Given the description of an element on the screen output the (x, y) to click on. 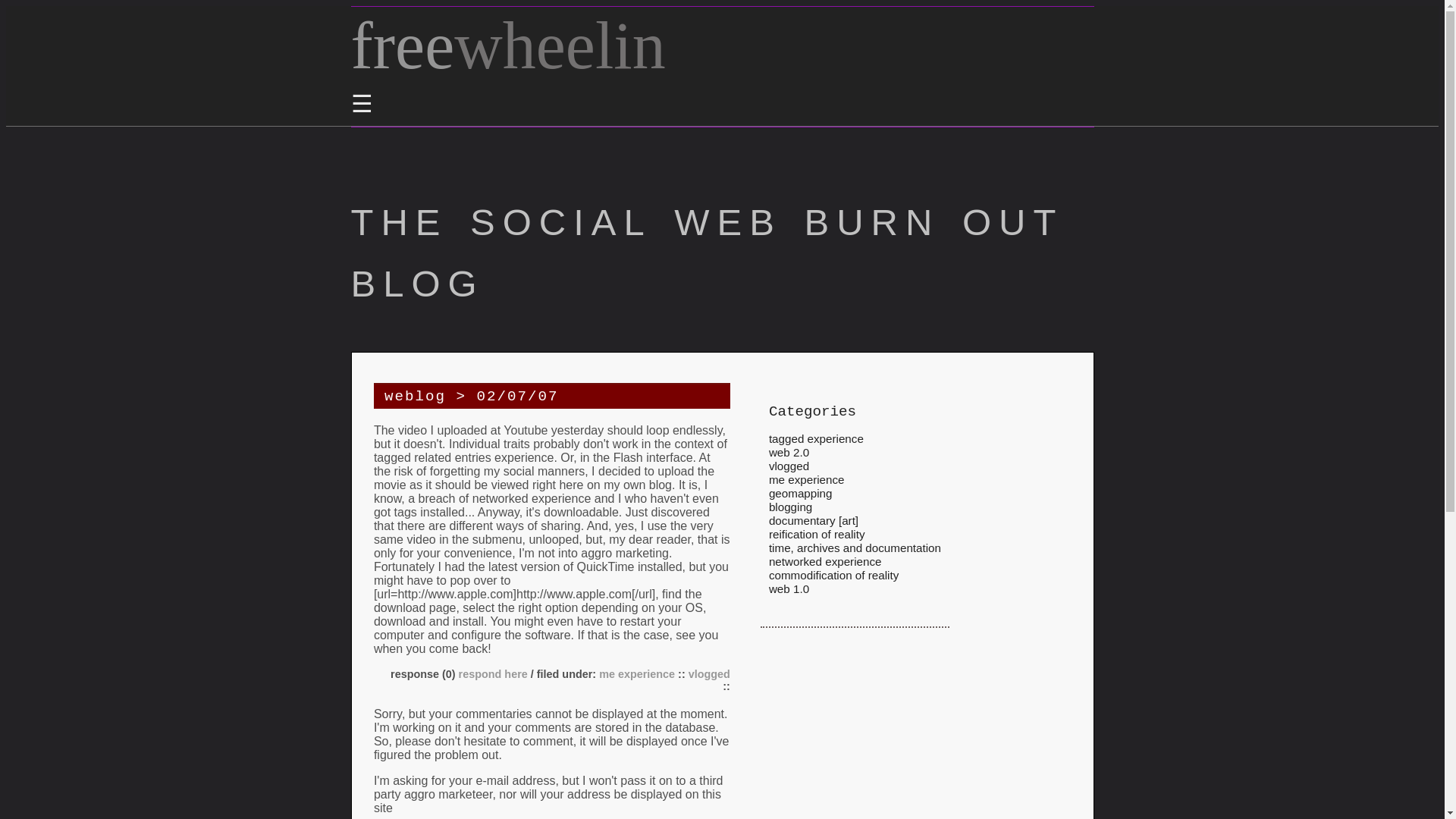
vlogged (709, 673)
networked experience (825, 561)
respond here (491, 673)
time, archives and documentation (854, 547)
commodification of reality (833, 574)
geomapping (800, 492)
web 1.0 (788, 588)
tagged experience (815, 438)
web 2.0 (788, 451)
me experience (806, 479)
me experience (636, 673)
vlogged (788, 465)
freewheelin (507, 45)
reification of reality (816, 533)
blogging (790, 506)
